Given the description of an element on the screen output the (x, y) to click on. 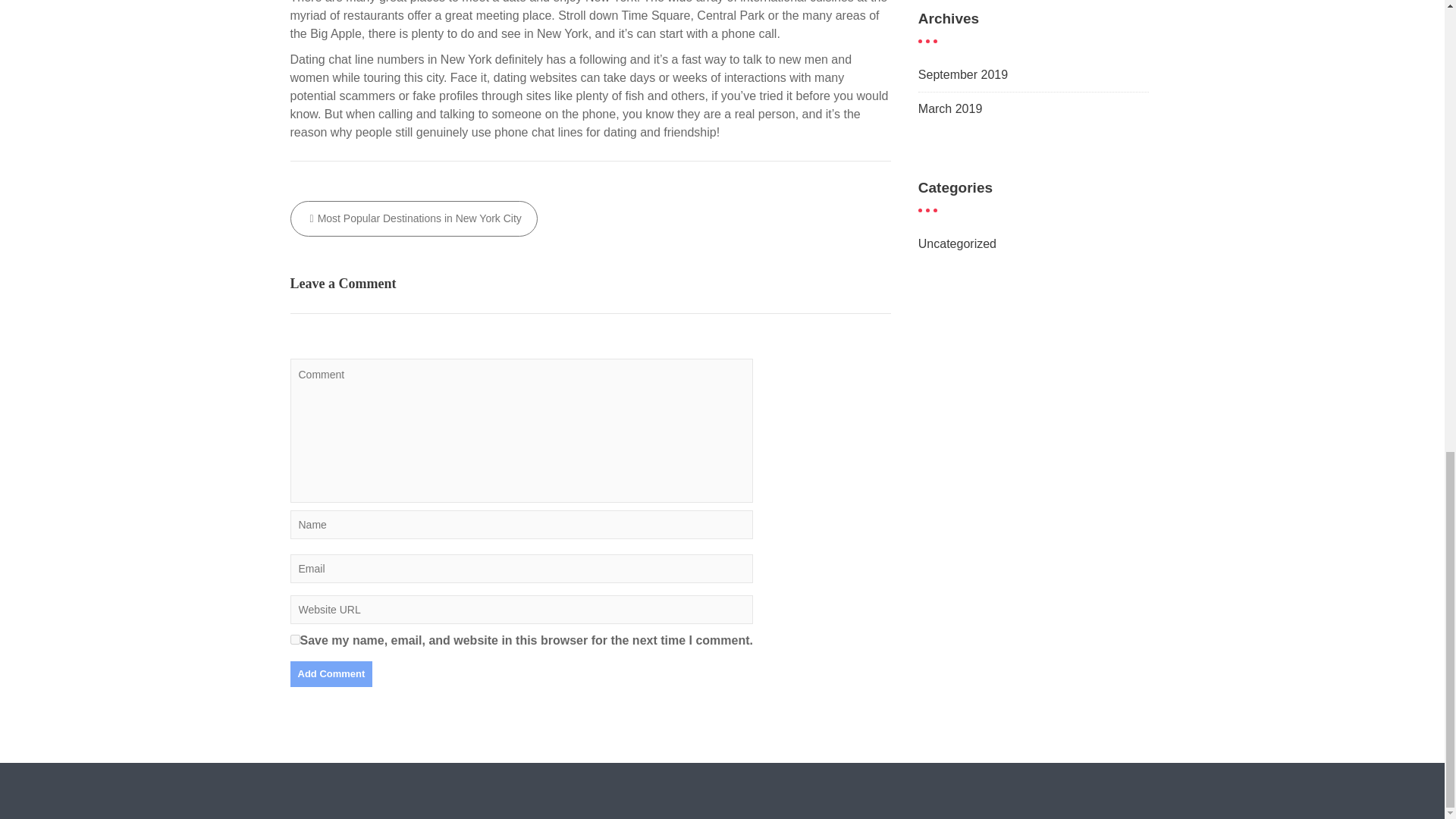
Uncategorized (956, 243)
March 2019 (950, 108)
Add Comment (330, 673)
September 2019 (962, 74)
Most Popular Destinations in New York City (413, 218)
Add Comment (330, 673)
yes (294, 639)
